Given the description of an element on the screen output the (x, y) to click on. 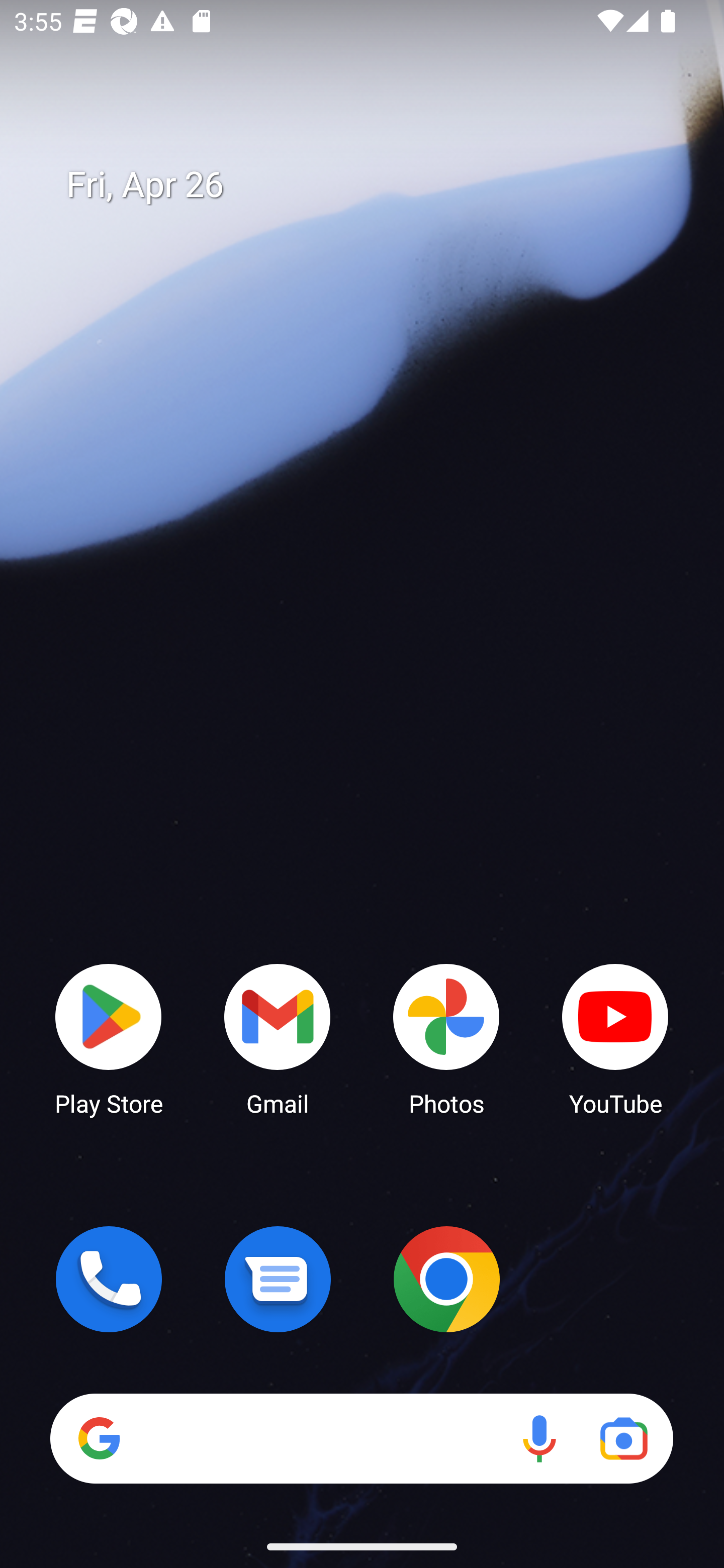
Fri, Apr 26 (375, 184)
Play Store (108, 1038)
Gmail (277, 1038)
Photos (445, 1038)
YouTube (615, 1038)
Phone (108, 1279)
Messages (277, 1279)
Chrome (446, 1279)
Search Voice search Google Lens (361, 1438)
Voice search (539, 1438)
Google Lens (623, 1438)
